Given the description of an element on the screen output the (x, y) to click on. 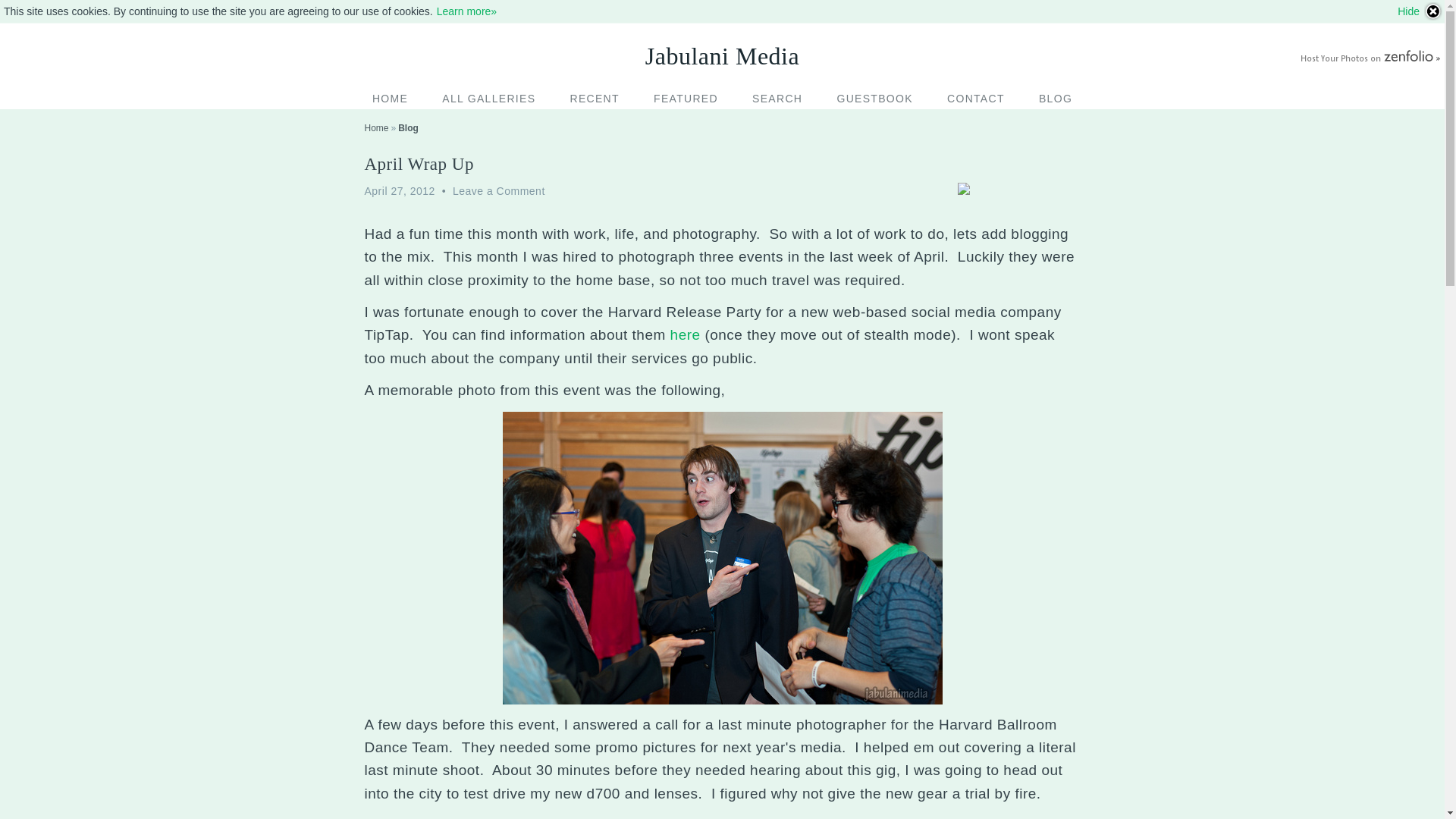
here (686, 334)
FEATURED (686, 98)
GUESTBOOK (874, 98)
SEARCH (776, 98)
HOME (389, 98)
Jabulani Media (376, 127)
Home (376, 127)
Jabulani Media (721, 55)
Jabulani Media (721, 55)
ALL GALLERIES (488, 98)
BLOG (1055, 98)
CONTACT (975, 98)
Leave a Comment (498, 191)
Blog (408, 127)
Hide (1419, 11)
